Given the description of an element on the screen output the (x, y) to click on. 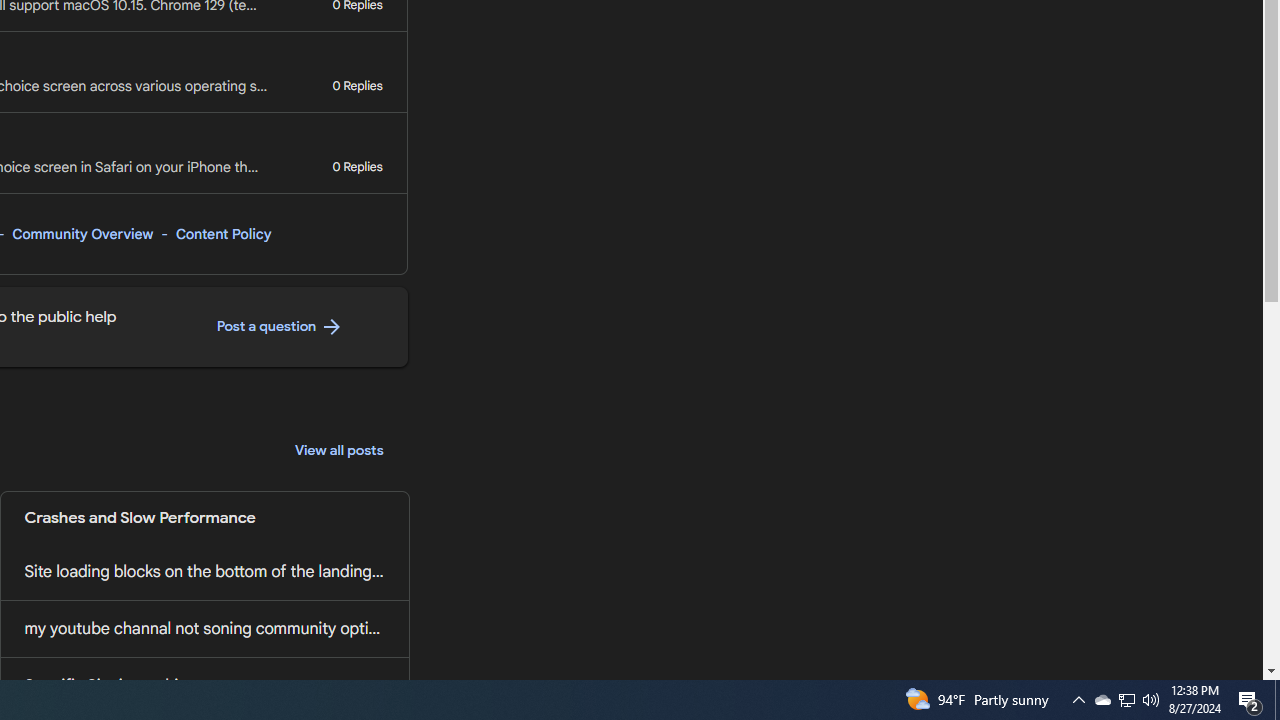
Content Policy (223, 233)
Post a question  (280, 327)
Community Overview (82, 233)
View all posts (339, 450)
